Given the description of an element on the screen output the (x, y) to click on. 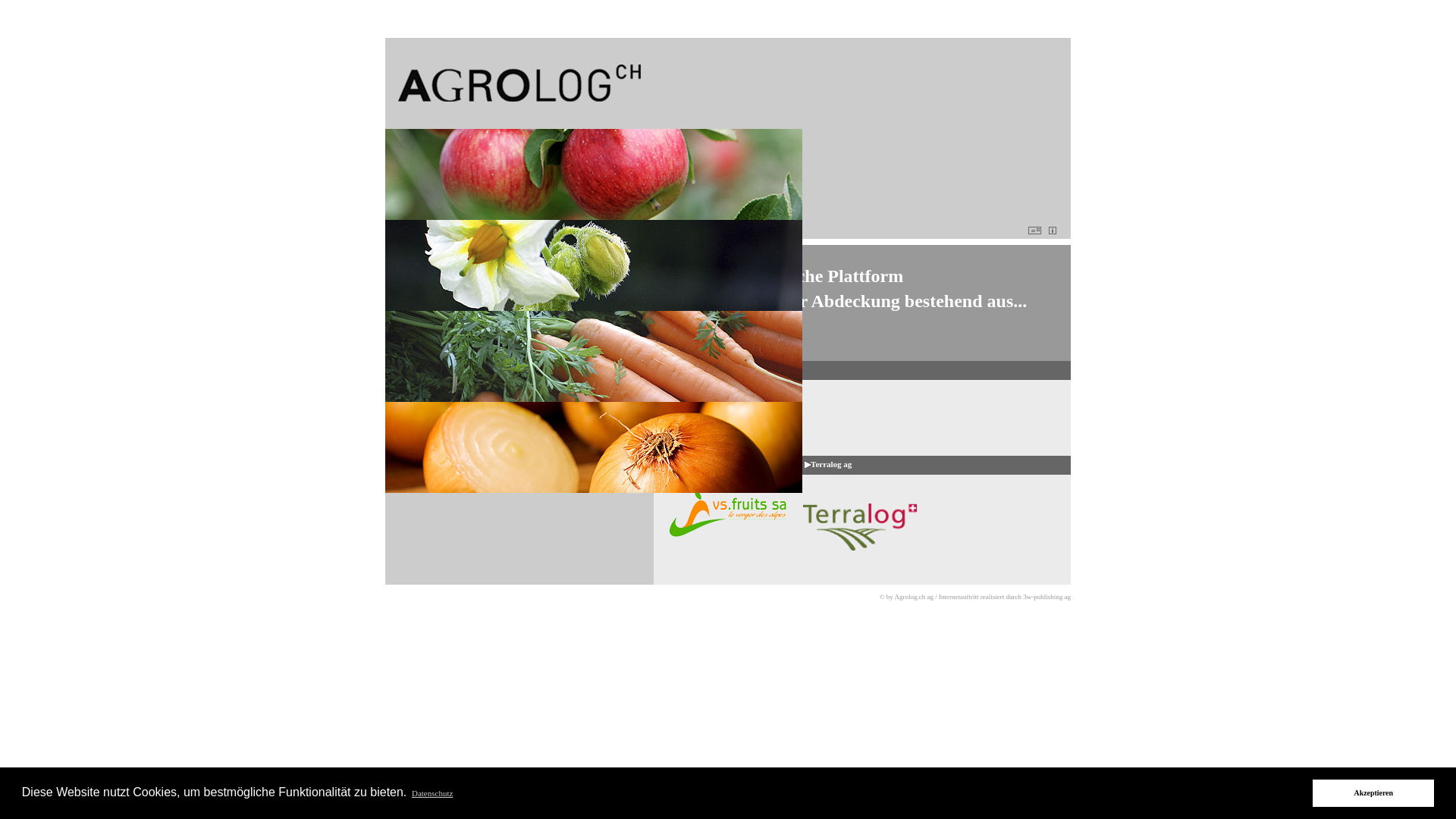
   Terralog ag Element type: text (827, 463)
   Kontaktieren Sie uns Element type: text (440, 227)
Internetauftritt Element type: text (958, 596)
Impressum Element type: text (1053, 228)
Datenschutz Element type: text (432, 792)
   GEISER agro.com ag Element type: text (710, 368)
3w-publishing ag Element type: text (1046, 596)
   vs.fruits sa Element type: text (690, 463)
info@agrolog.ch Element type: text (428, 330)
www.agrolog.ch Element type: text (427, 342)
Akzeptieren Element type: text (1373, 792)
E-Mail Element type: text (1035, 228)
